Given the description of an element on the screen output the (x, y) to click on. 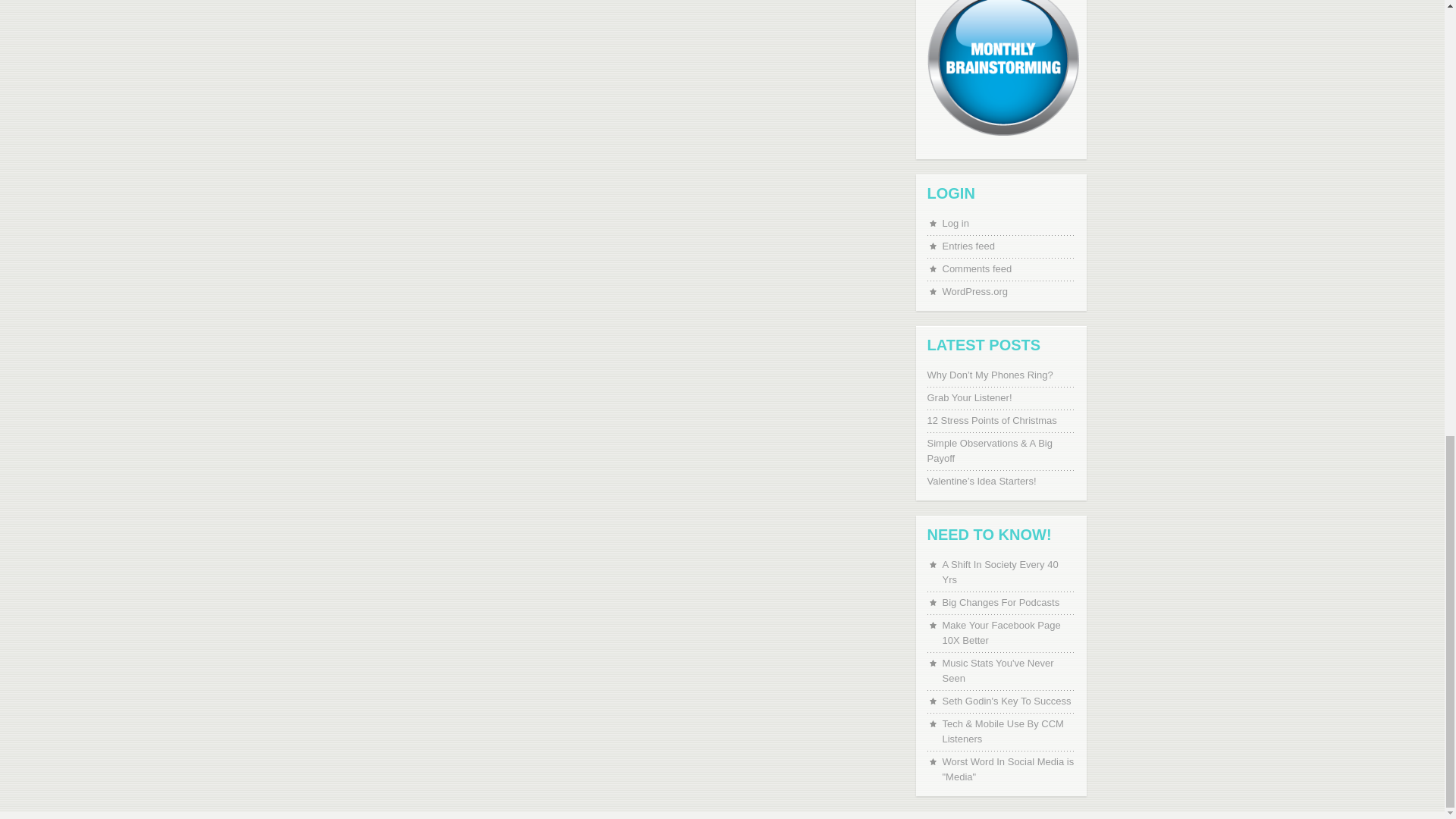
WordPress.org (1008, 291)
12 Stress Points of Christmas (1000, 420)
Comments feed (1008, 268)
Big Changes For Podcasts (1008, 602)
Easy Steps To Connect Better on Facebook (1008, 633)
Entries feed (1008, 246)
Log in (1008, 223)
According to Seth Godin (1008, 701)
This is a gamechanger. (1008, 671)
Grab Your Listener! (1000, 397)
